Given the description of an element on the screen output the (x, y) to click on. 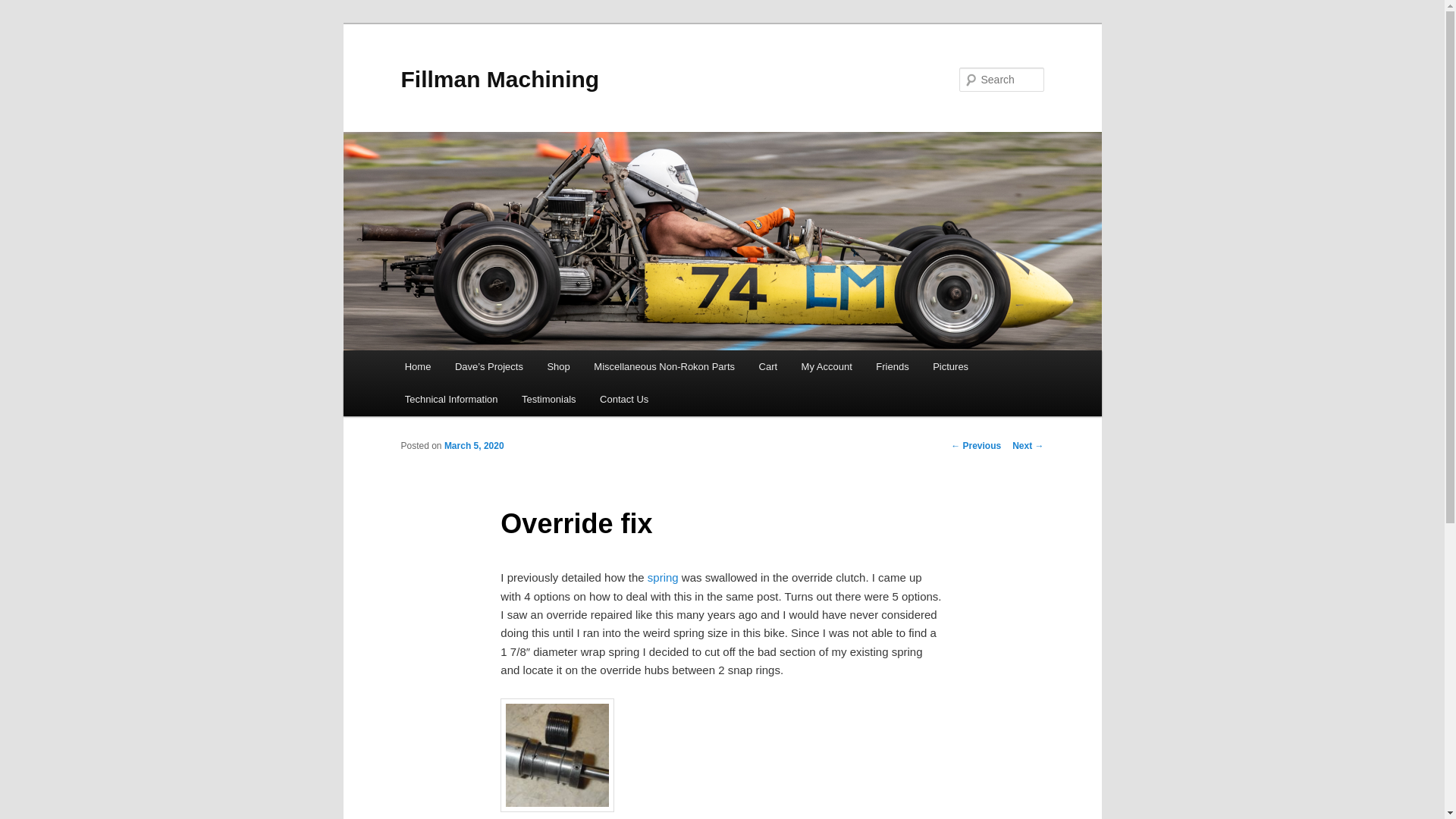
Miscellaneous Non-Rokon Parts (664, 366)
My Account (826, 366)
Pictures (949, 366)
Fillman Machining (499, 78)
Friends (892, 366)
Testimonials (548, 399)
Home (417, 366)
Shop (558, 366)
Cart (767, 366)
6:20 am (473, 445)
Search (24, 8)
Technical Information (451, 399)
